Given the description of an element on the screen output the (x, y) to click on. 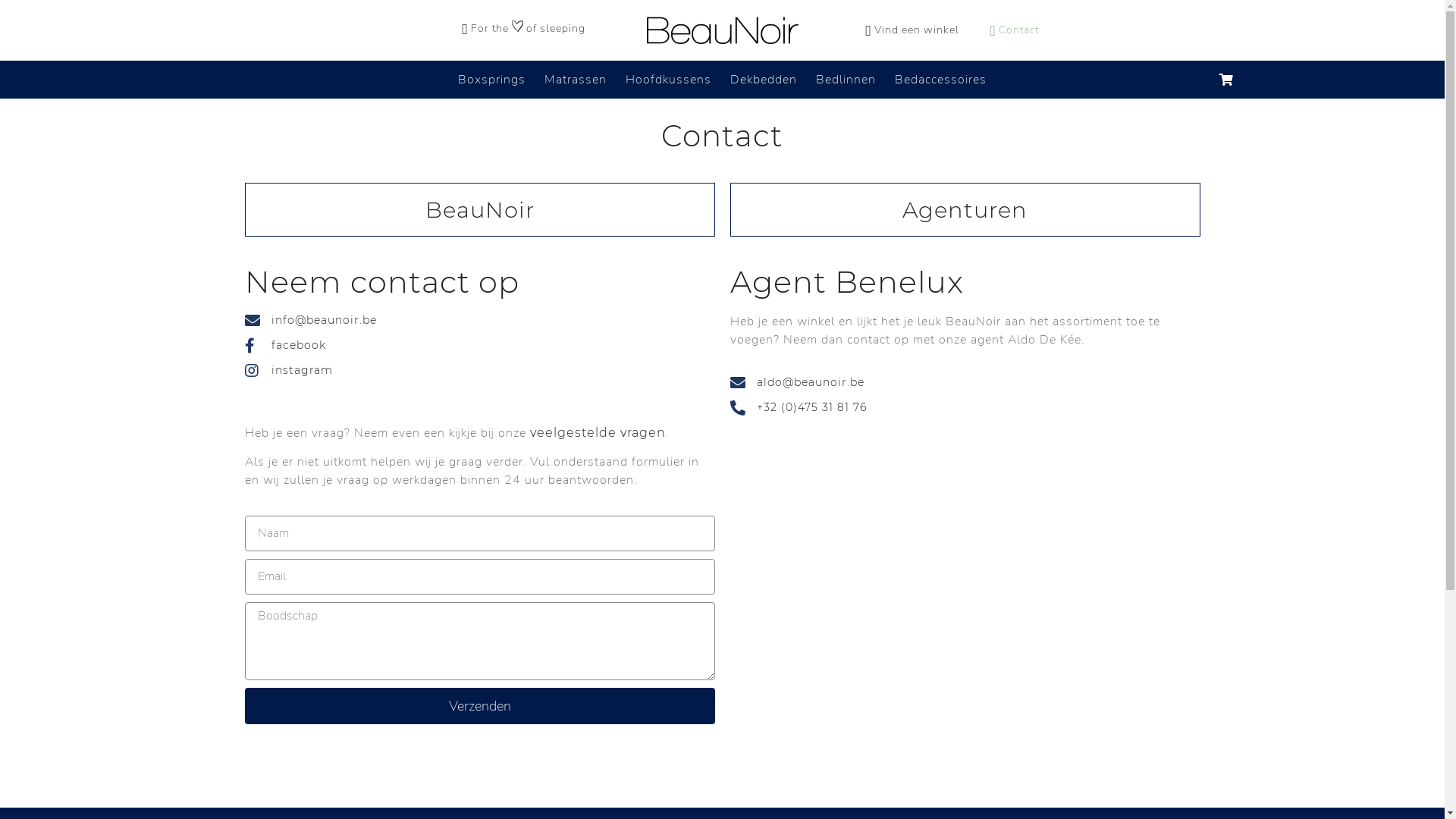
Boxsprings Element type: text (491, 79)
Bedlinnen Element type: text (845, 79)
instagram Element type: text (288, 370)
Dekbedden Element type: text (762, 79)
info@beaunoir.be Element type: text (310, 320)
aldo@beaunoir.be Element type: text (796, 382)
Hoofdkussens Element type: text (667, 79)
Verzenden Element type: text (479, 705)
Matrassen Element type: text (575, 79)
+32 (0)475 31 81 76 Element type: text (797, 407)
Bedaccessoires Element type: text (940, 79)
veelgestelde vragen Element type: text (597, 432)
facebook Element type: text (284, 345)
